Given the description of an element on the screen output the (x, y) to click on. 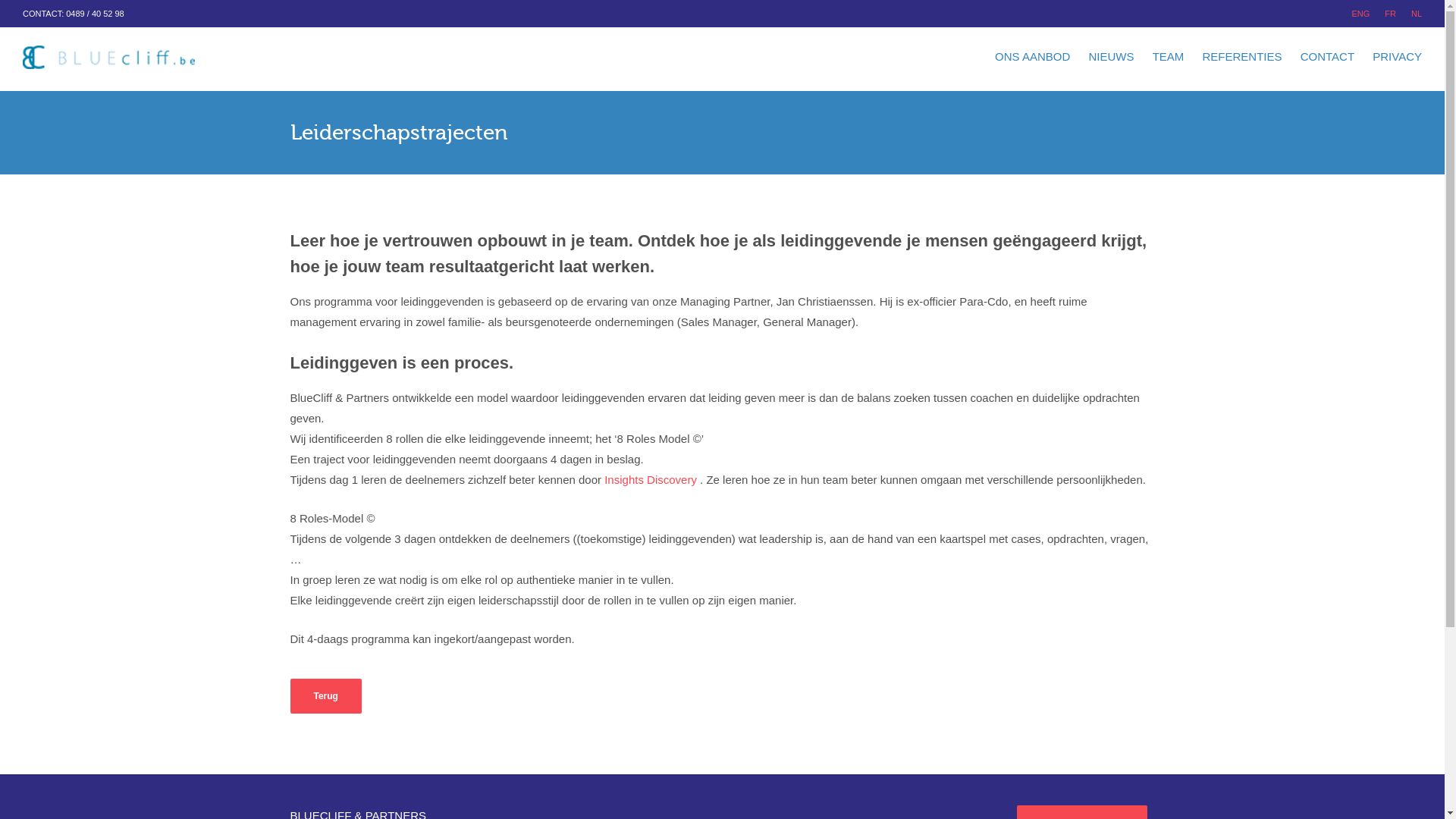
NL Element type: text (1416, 13)
ENG Element type: text (1360, 13)
FR Element type: text (1390, 13)
NIEUWS Element type: text (1110, 56)
PRIVACY Element type: text (1396, 56)
Insights Discovery Element type: text (650, 479)
CONTACT Element type: text (1327, 56)
REFERENTIES Element type: text (1242, 56)
TEAM Element type: text (1168, 56)
Terug Element type: text (324, 695)
ONS AANBOD Element type: text (1032, 56)
